Given the description of an element on the screen output the (x, y) to click on. 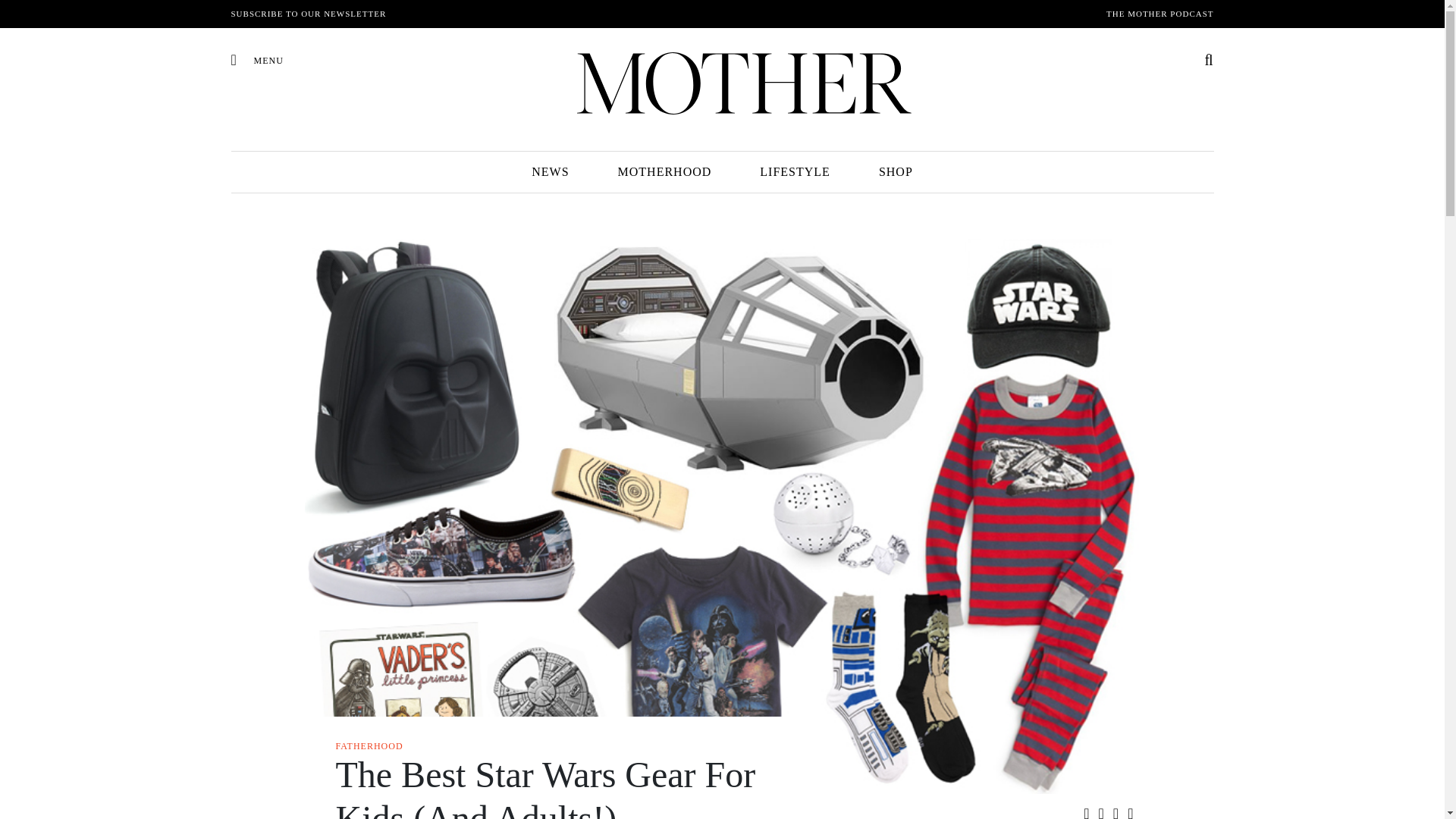
LIFESTYLE (794, 171)
SUBSCRIBE TO OUR NEWSLETTER (307, 13)
THE MOTHER PODCAST (1159, 13)
SHOP (895, 171)
MOTHERHOOD (664, 171)
NEWS (550, 171)
